Given the description of an element on the screen output the (x, y) to click on. 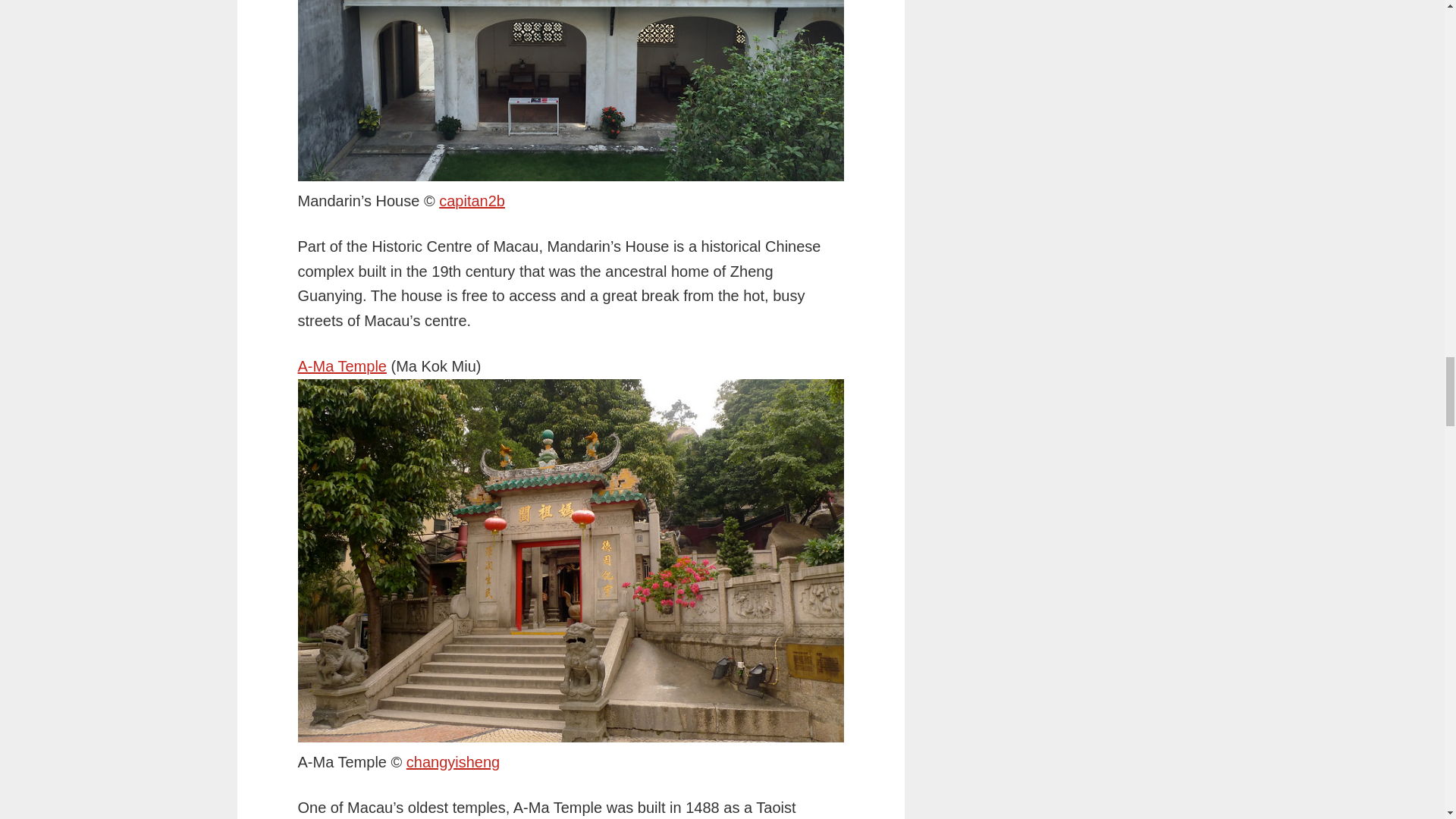
Mandarin's House (472, 200)
capitan2b (472, 200)
changyisheng (452, 761)
A-Ma Temple (341, 365)
A-Ma Temple (452, 761)
